Given the description of an element on the screen output the (x, y) to click on. 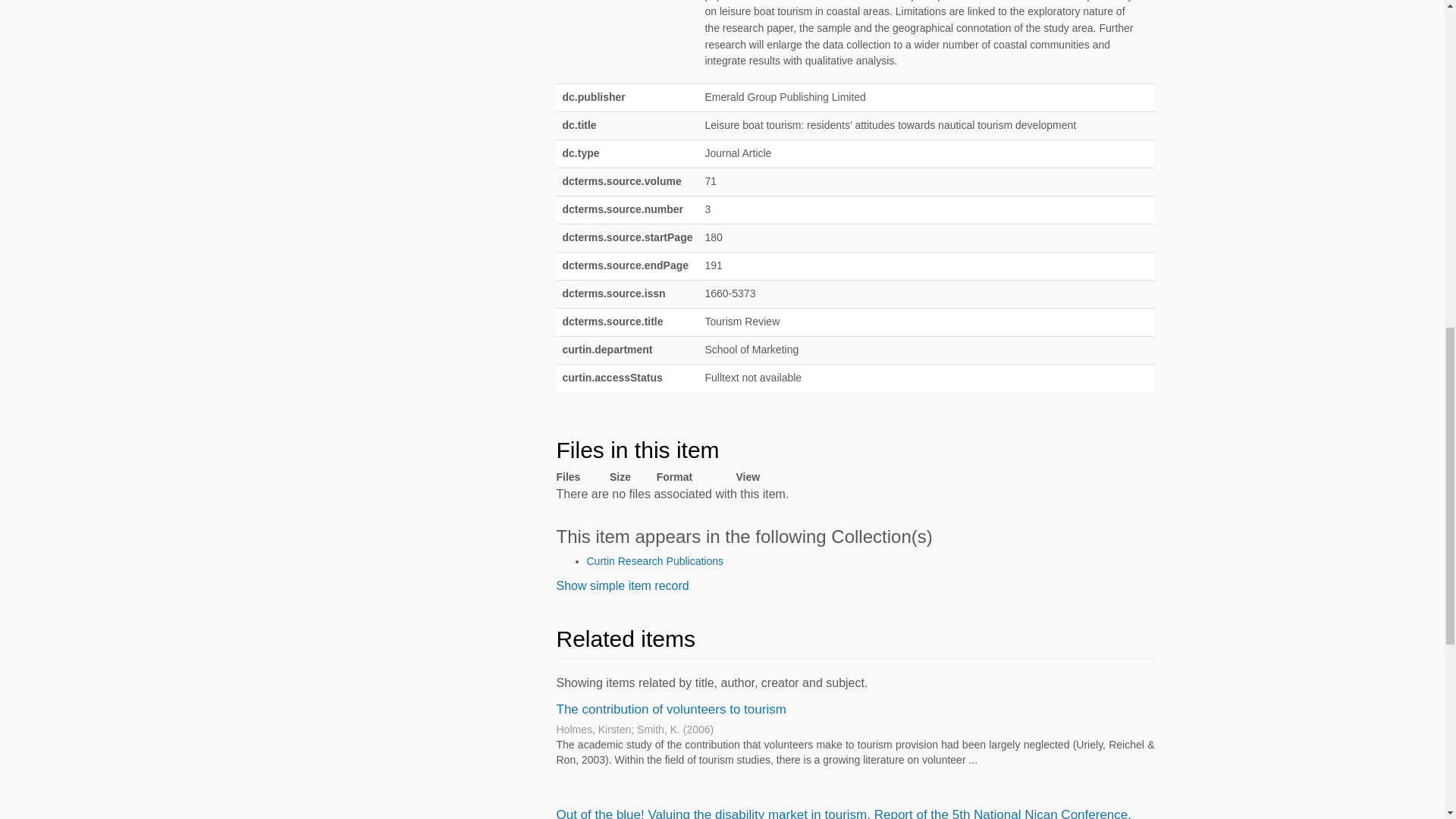
The contribution of volunteers to tourism (671, 708)
Show simple item record (622, 585)
Curtin Research Publications (654, 561)
